Given the description of an element on the screen output the (x, y) to click on. 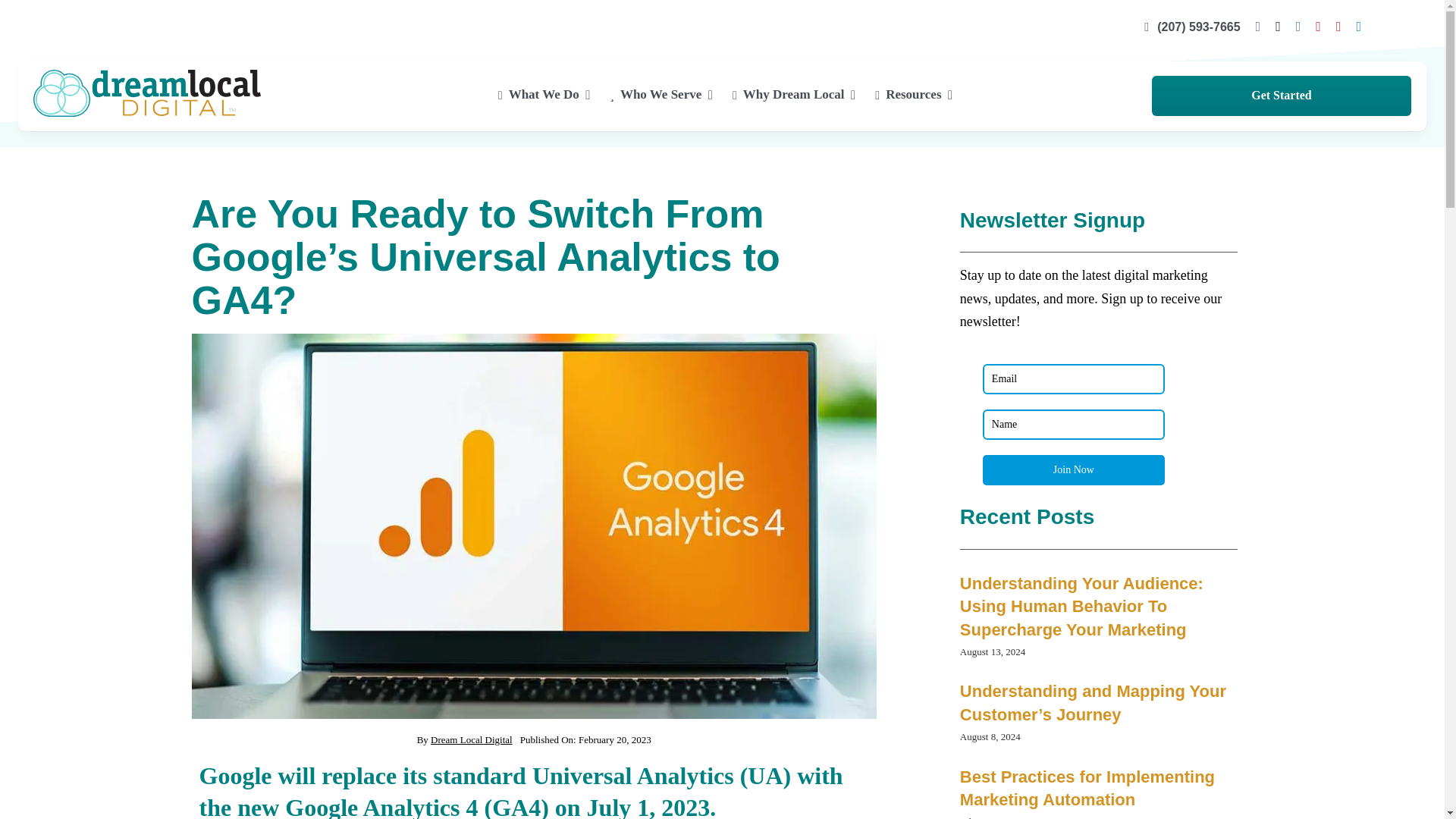
Join Now (1073, 470)
Posts by Dream Local Digital (471, 739)
